Given the description of an element on the screen output the (x, y) to click on. 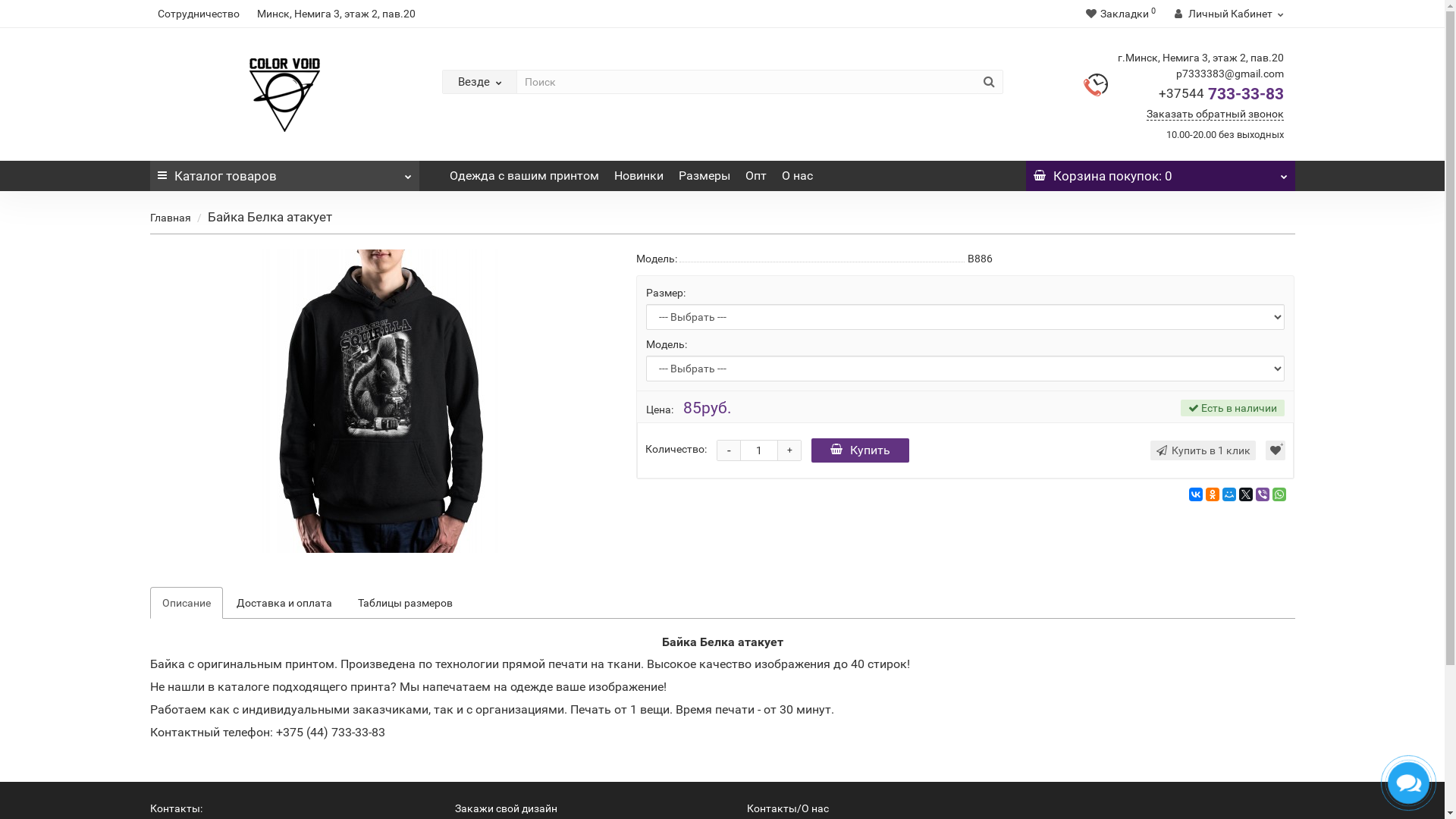
+ Element type: text (789, 450)
Viber Element type: hover (1262, 494)
- Element type: text (728, 450)
Twitter Element type: hover (1245, 494)
+37544 733-33-83 Element type: text (1220, 93)
WhatsApp Element type: hover (1279, 494)
